Given the description of an element on the screen output the (x, y) to click on. 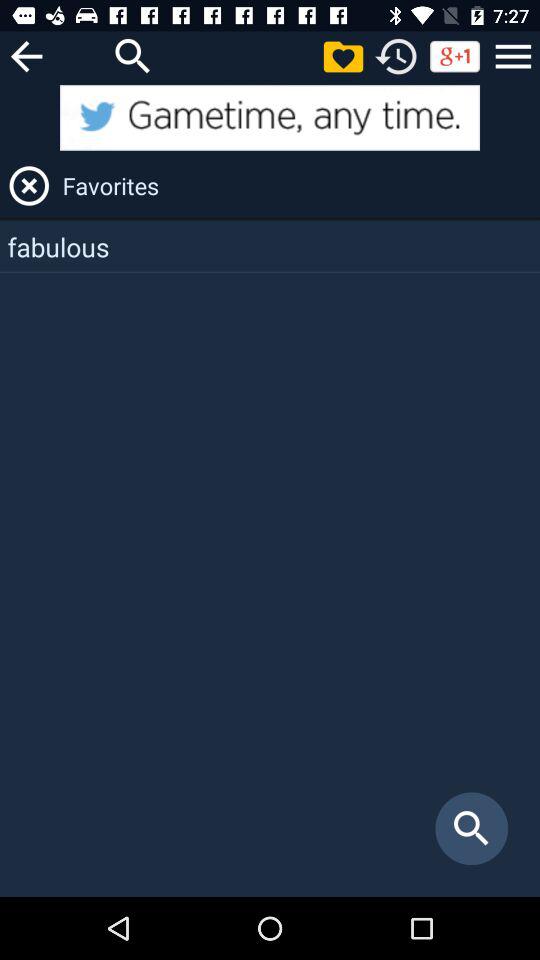
watch history option (396, 56)
